Given the description of an element on the screen output the (x, y) to click on. 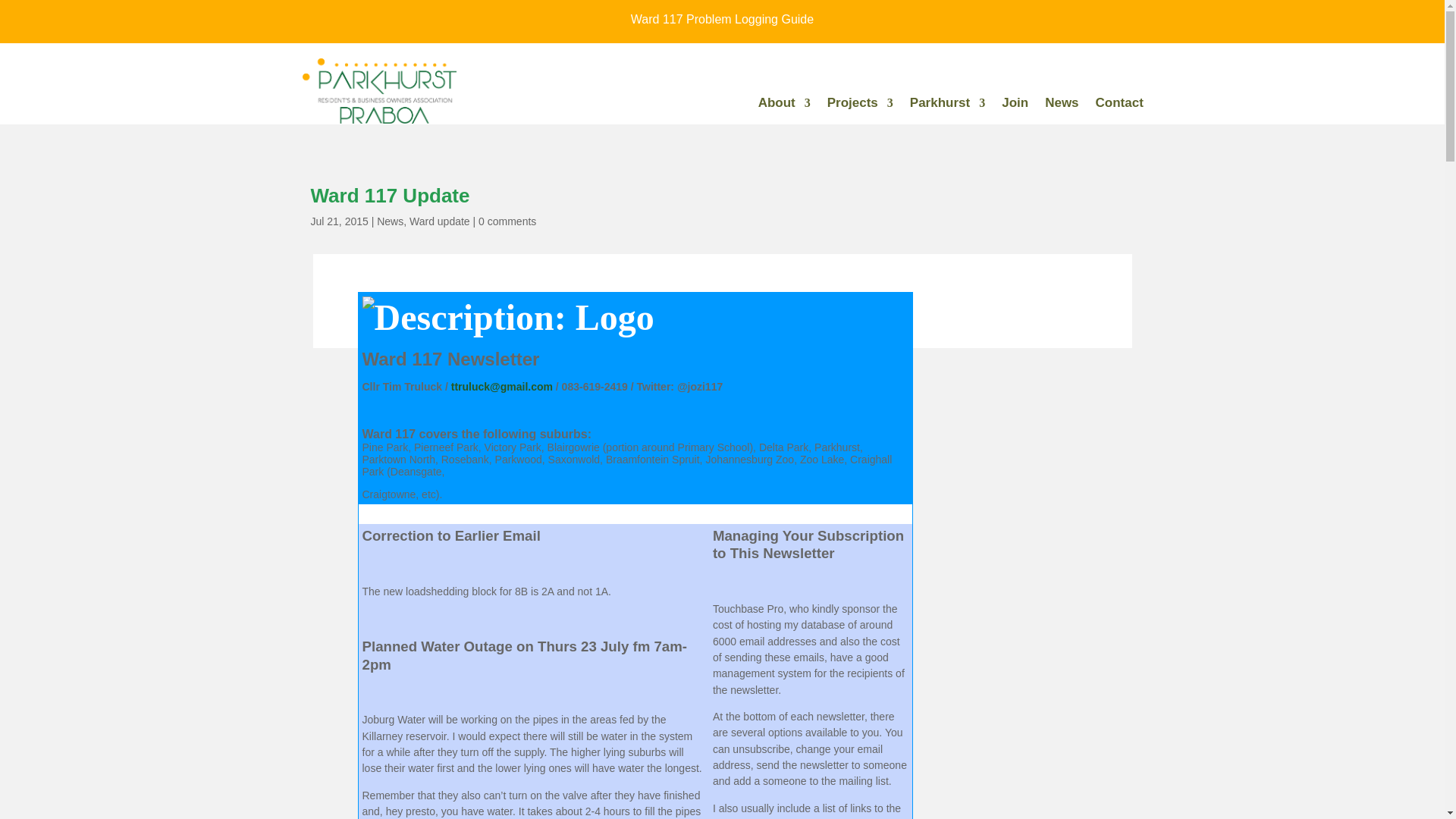
Parkhurst (947, 105)
News (1061, 105)
Projects (860, 105)
Contact (1119, 105)
About (784, 105)
Asset 1 (379, 90)
Join (1014, 105)
